Given the description of an element on the screen output the (x, y) to click on. 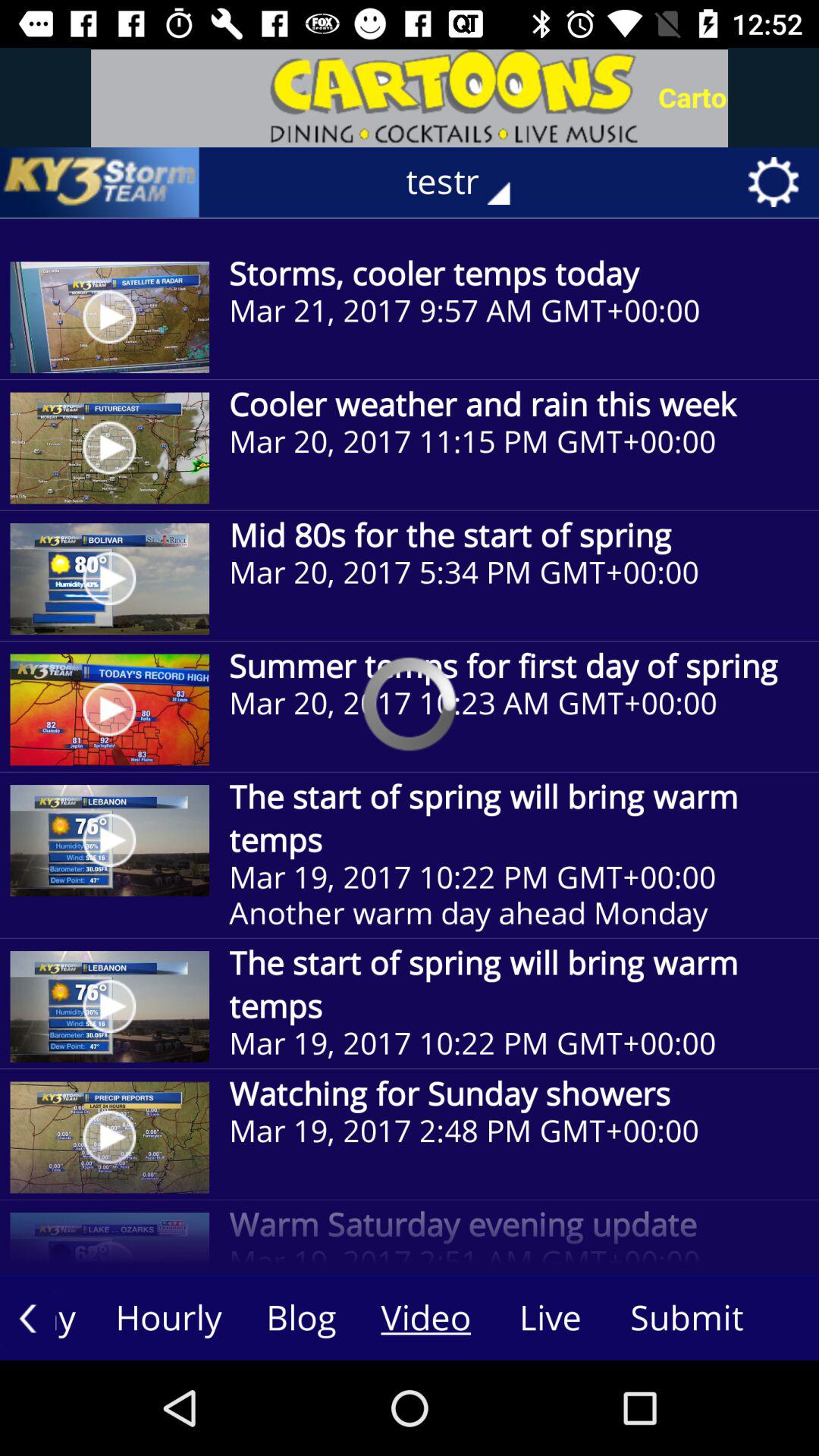
click the settings button on the web page (778, 181)
click on the last image of the page (109, 1137)
click the video button on the web page (425, 1318)
click on the third image from the left top of the page (109, 578)
